Given the description of an element on the screen output the (x, y) to click on. 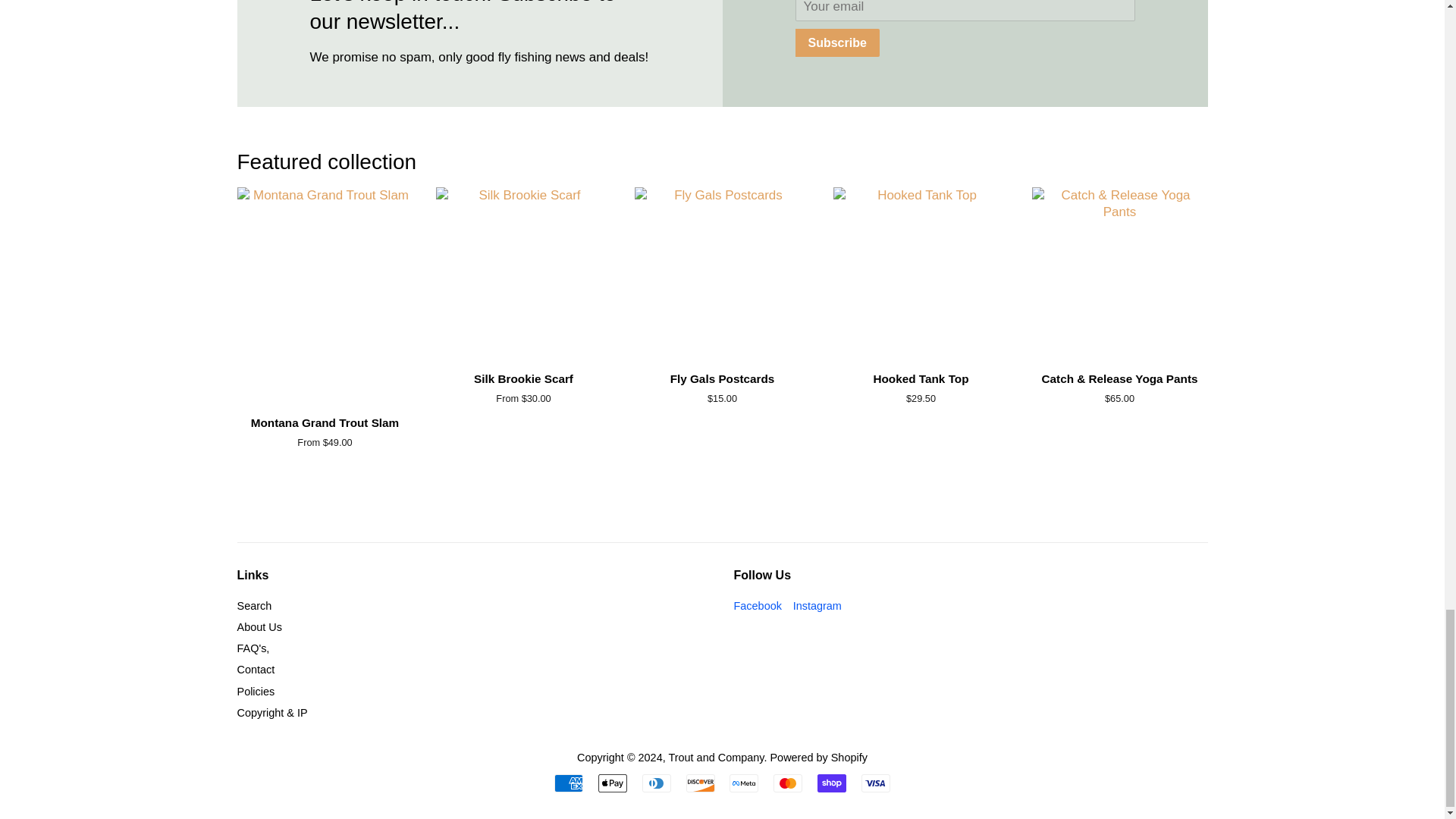
Apple Pay (612, 782)
Trout and Company on Instagram (817, 605)
Discover (699, 782)
Shop Pay (830, 782)
Trout and Company on Facebook (757, 605)
Meta Pay (743, 782)
About Us (258, 626)
Subscribe (836, 42)
American Express (568, 782)
Visa (875, 782)
